Given the description of an element on the screen output the (x, y) to click on. 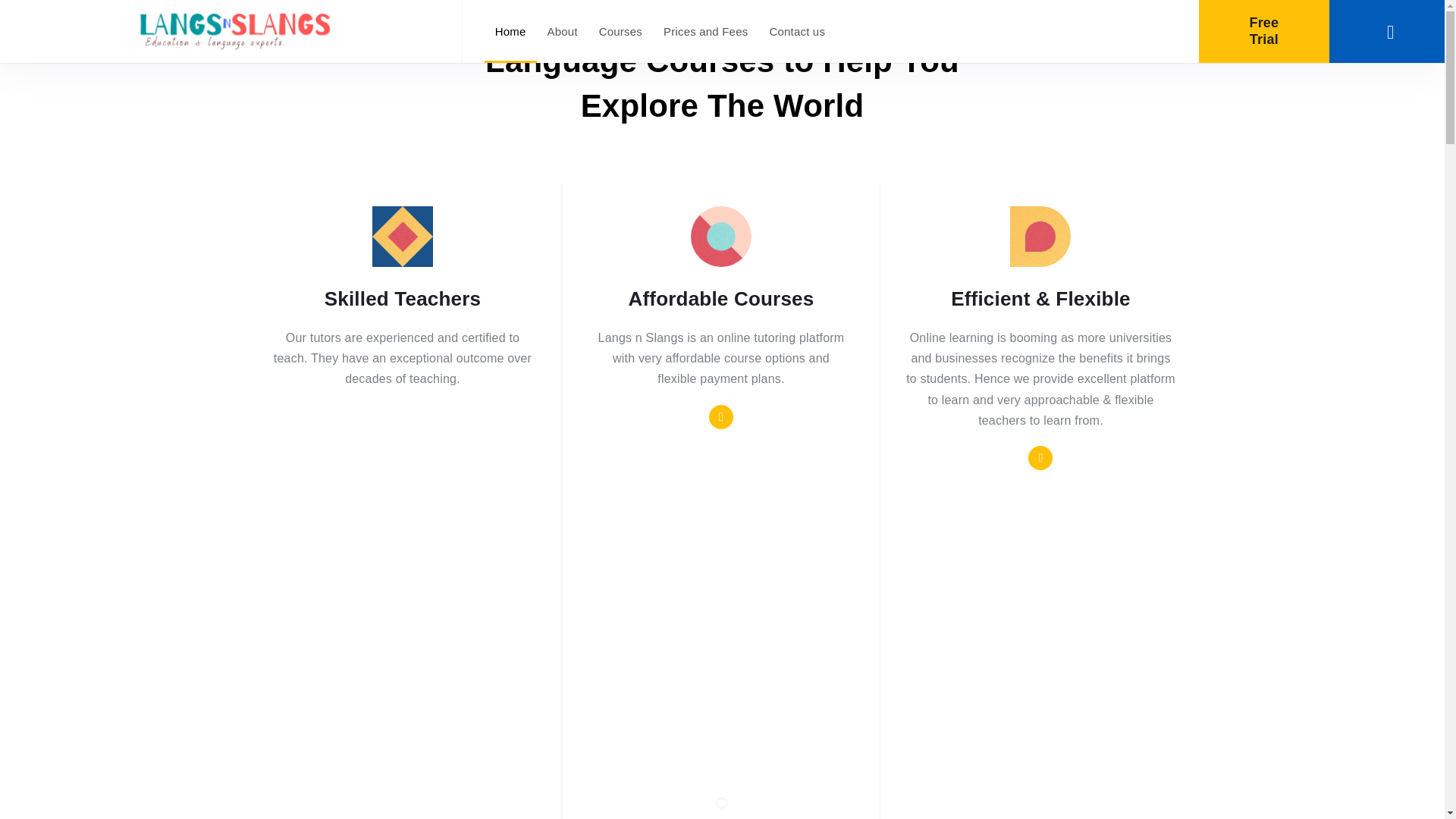
Free Trial (1262, 31)
Contact us (796, 31)
Prices and Fees (705, 31)
Courses (620, 31)
